Given the description of an element on the screen output the (x, y) to click on. 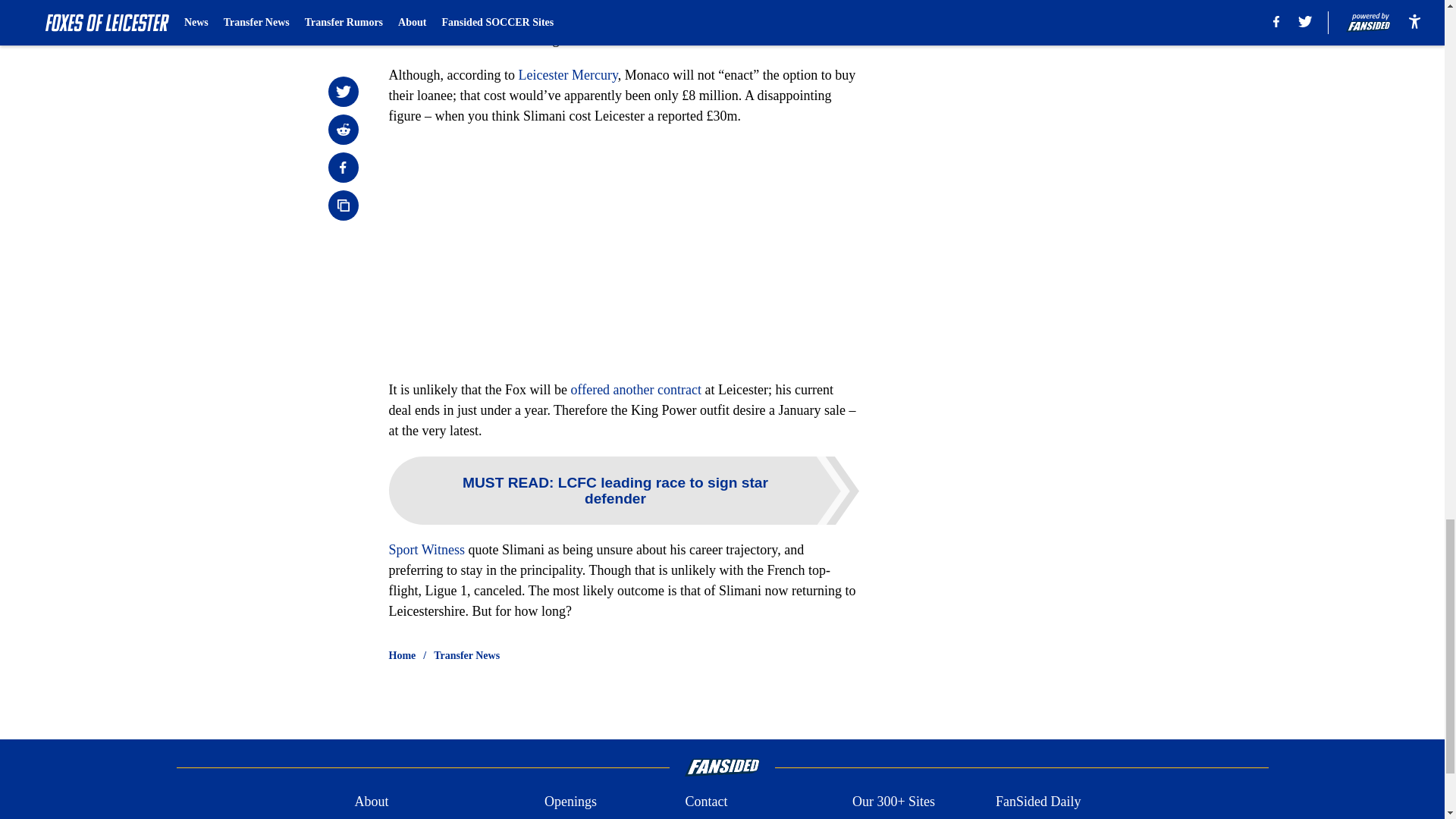
About (370, 801)
Openings (570, 801)
MUST READ: LCFC leading race to sign star defender (623, 490)
Contact (705, 801)
Home (401, 655)
FanSided Daily (1038, 801)
Transfer News (466, 655)
offered another contract (635, 389)
Sport Witness (426, 549)
Leicester Mercury (567, 74)
